Given the description of an element on the screen output the (x, y) to click on. 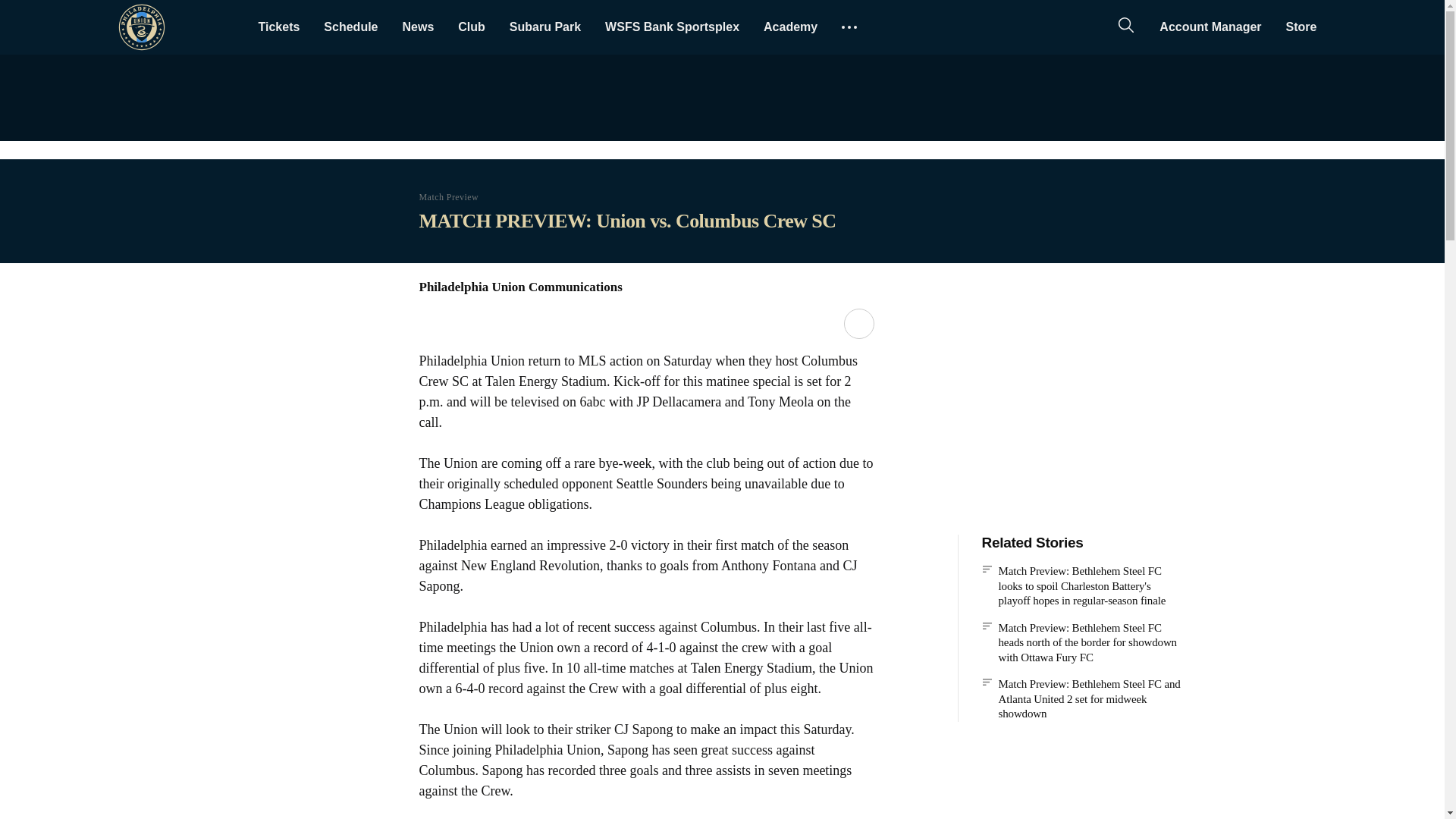
Account Manager (1209, 26)
Tickets (278, 26)
Club (471, 26)
Academy (790, 26)
Schedule (350, 26)
Philadelphia Union (141, 27)
Subaru Park (544, 26)
Store (1301, 26)
News (417, 26)
WSFS Bank Sportsplex (671, 26)
